Given the description of an element on the screen output the (x, y) to click on. 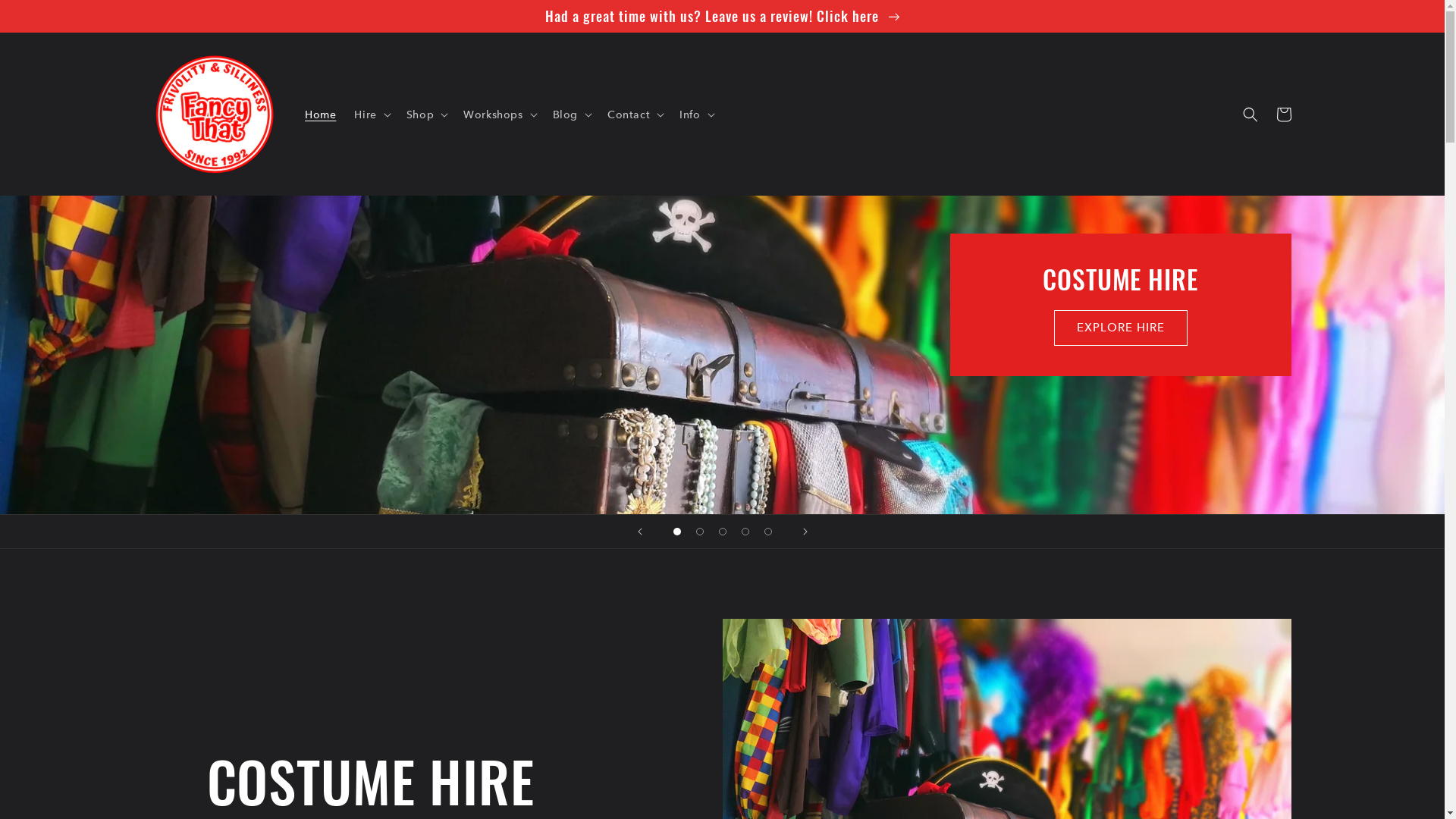
Had a great time with us? Leave us a review! Click here Element type: text (722, 15)
EXPLORE HIRE Element type: text (1120, 327)
Home Element type: text (320, 114)
Cart Element type: text (1282, 114)
